Given the description of an element on the screen output the (x, y) to click on. 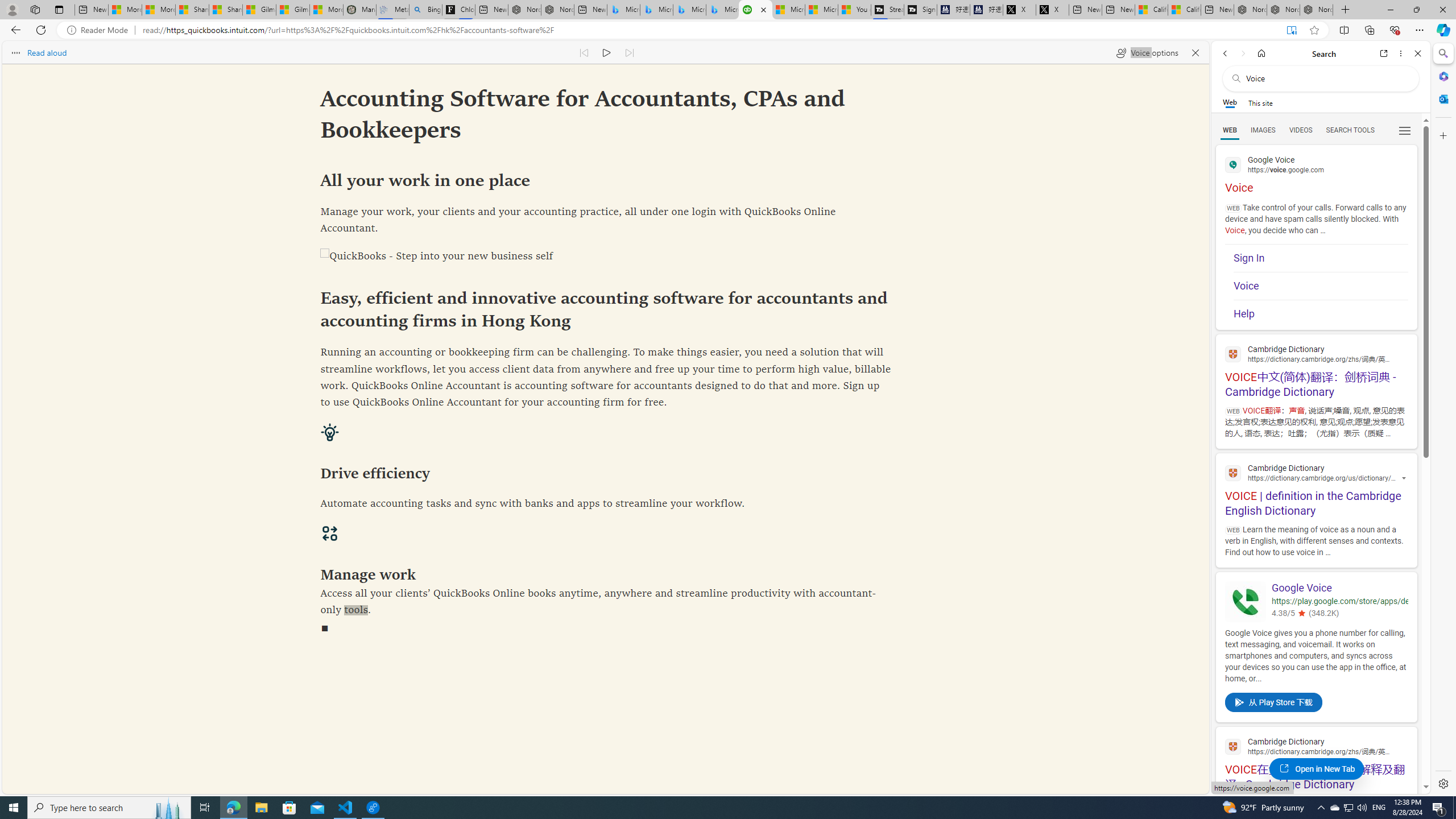
Bing Real Estate - Home sales and rental listings (425, 9)
Google Voice (1339, 588)
Manatee Mortality Statistics | FWC (359, 9)
This site scope (1259, 102)
4.380543231964111 (1300, 613)
Chloe Sorvino (458, 9)
Help (1320, 310)
Cambridge Dictionary (1315, 745)
